Given the description of an element on the screen output the (x, y) to click on. 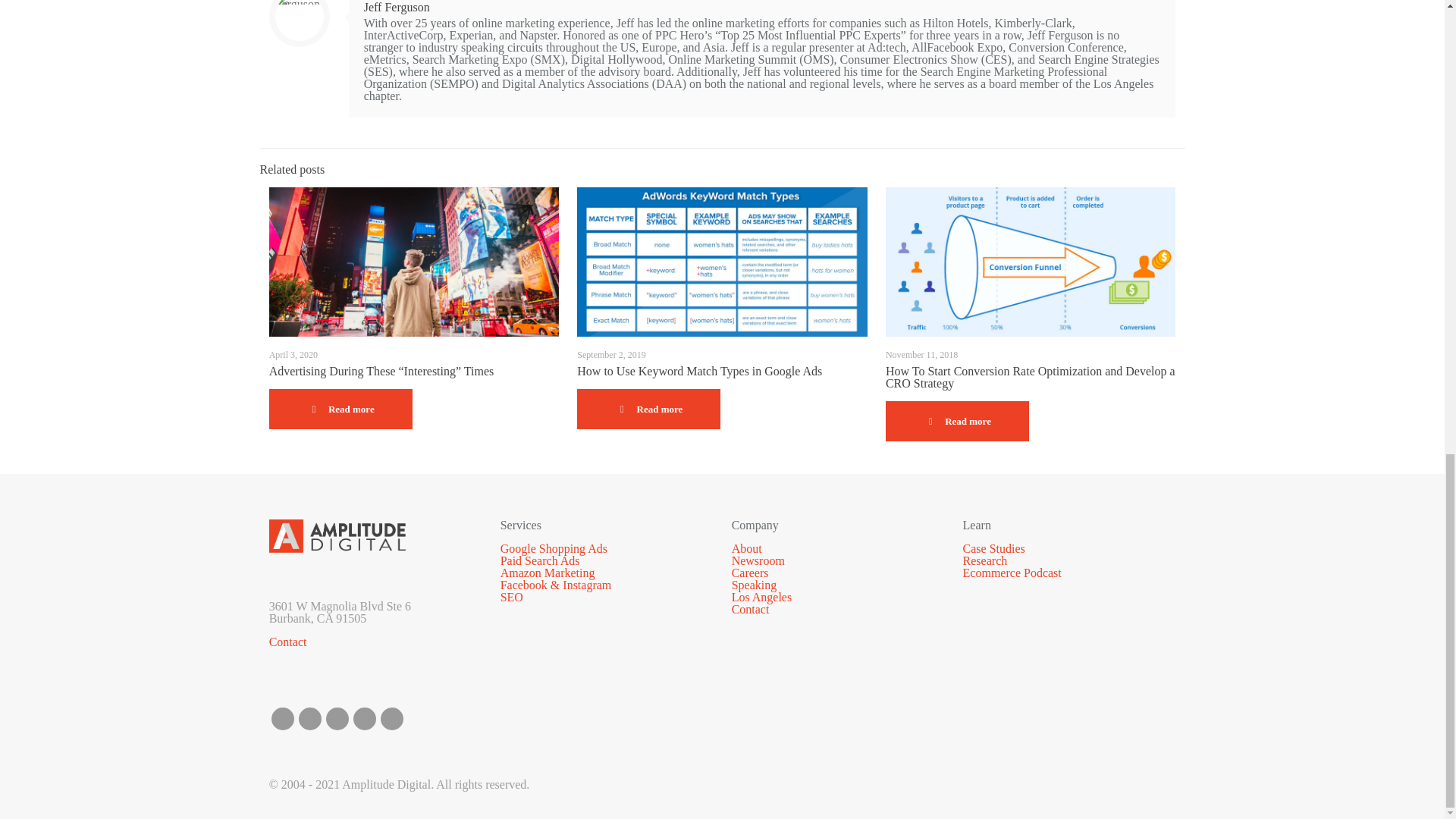
Instagram (391, 718)
LinkedIn (337, 718)
Twitter (309, 718)
How to Use Keyword Match Types in Google Ads 4 (721, 261)
Facebook (282, 718)
YouTube (364, 718)
